Given the description of an element on the screen output the (x, y) to click on. 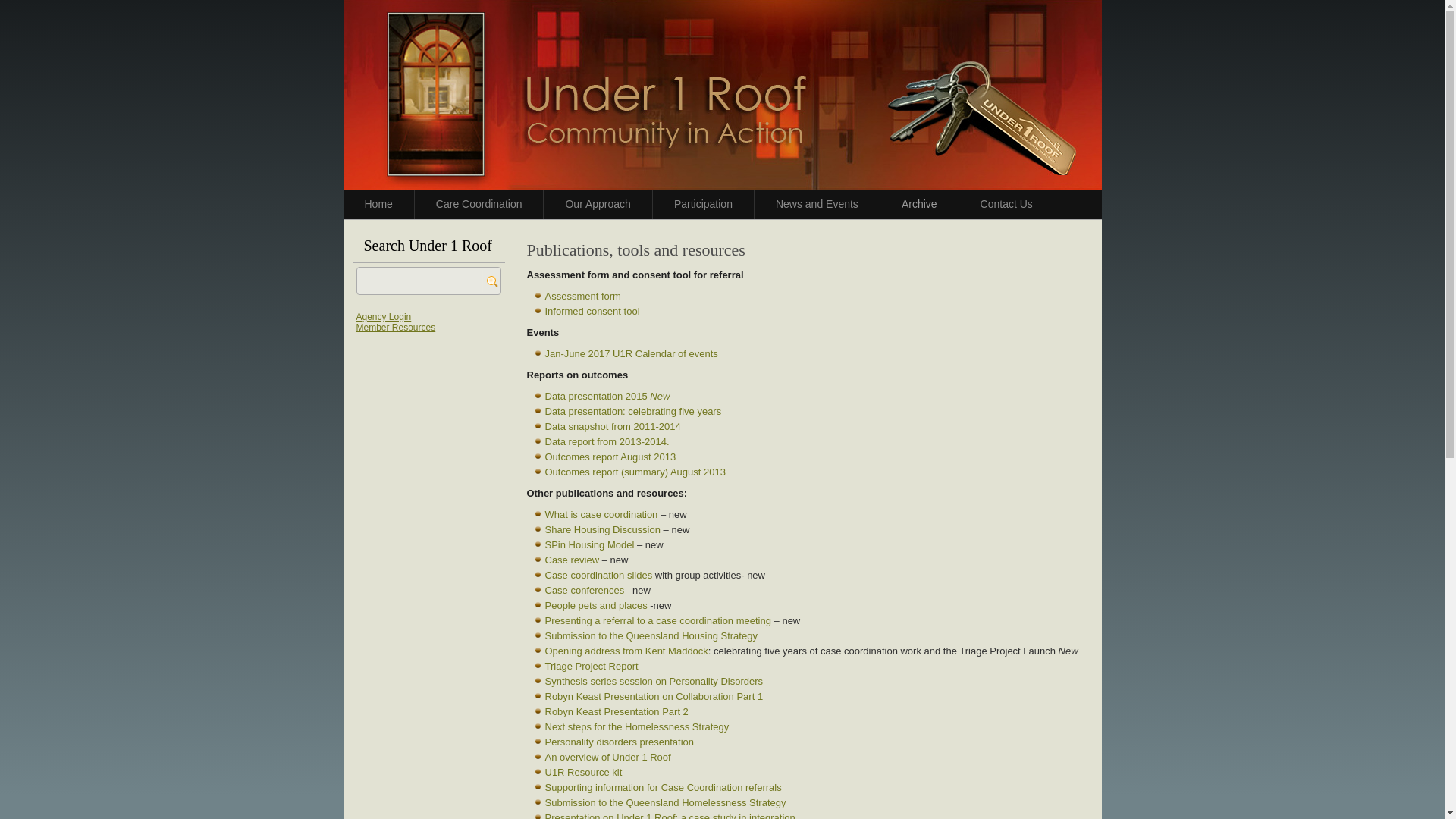
Participation Element type: text (702, 204)
Personality disorders presentation Element type: text (618, 741)
Member Resources Element type: text (396, 327)
Presenting a referral to a case coordination meeting Element type: text (657, 620)
Data presentation: celebrating five years Element type: text (632, 411)
Data presentation 2015 New Element type: text (606, 395)
Opening address from Kent Maddock Element type: text (625, 650)
Case conferences Element type: text (584, 590)
An overview of Under 1 Roof Element type: text (607, 756)
Supporting information for Case Coordination referrals Element type: text (662, 787)
Next steps for the Homelessness Strategy Element type: text (636, 726)
Case coordination slides Element type: text (598, 574)
Robyn Keast Presentation Part 2 Element type: text (615, 711)
Submission to the Queensland Homelessness Strategy Element type: text (664, 802)
Data report from 2013-2014. Element type: text (606, 441)
Contact Us Element type: text (1006, 204)
Triage Project Report Element type: text (590, 665)
Outcomes report August 2013 Element type: text (609, 456)
What is case coordination Element type: text (600, 514)
Informed consent tool Element type: text (591, 310)
Outcomes report (summary) August 2013 Element type: text (634, 471)
Submission to the Queensland Housing Strategy Element type: text (650, 635)
Our Approach Element type: text (597, 204)
Robyn Keast Presentation on Collaboration Part 1 Element type: text (653, 696)
Share Housing Discussion Element type: text (601, 529)
Agency Login Element type: text (383, 316)
News and Events Element type: text (816, 204)
Archive Element type: text (919, 204)
Jan-June 2017 U1R Calendar of events Element type: text (630, 353)
Case review Element type: text (571, 559)
People pets and places Element type: text (595, 605)
Care Coordination Element type: text (478, 204)
Data snapshot from 2011-2014 Element type: text (612, 426)
SPin Housing Model Element type: text (588, 544)
Home Element type: text (377, 204)
Synthesis series session on Personality Disorders Element type: text (653, 681)
Assessment form Element type: text (582, 295)
U1R Resource kit Element type: text (582, 772)
